Given the description of an element on the screen output the (x, y) to click on. 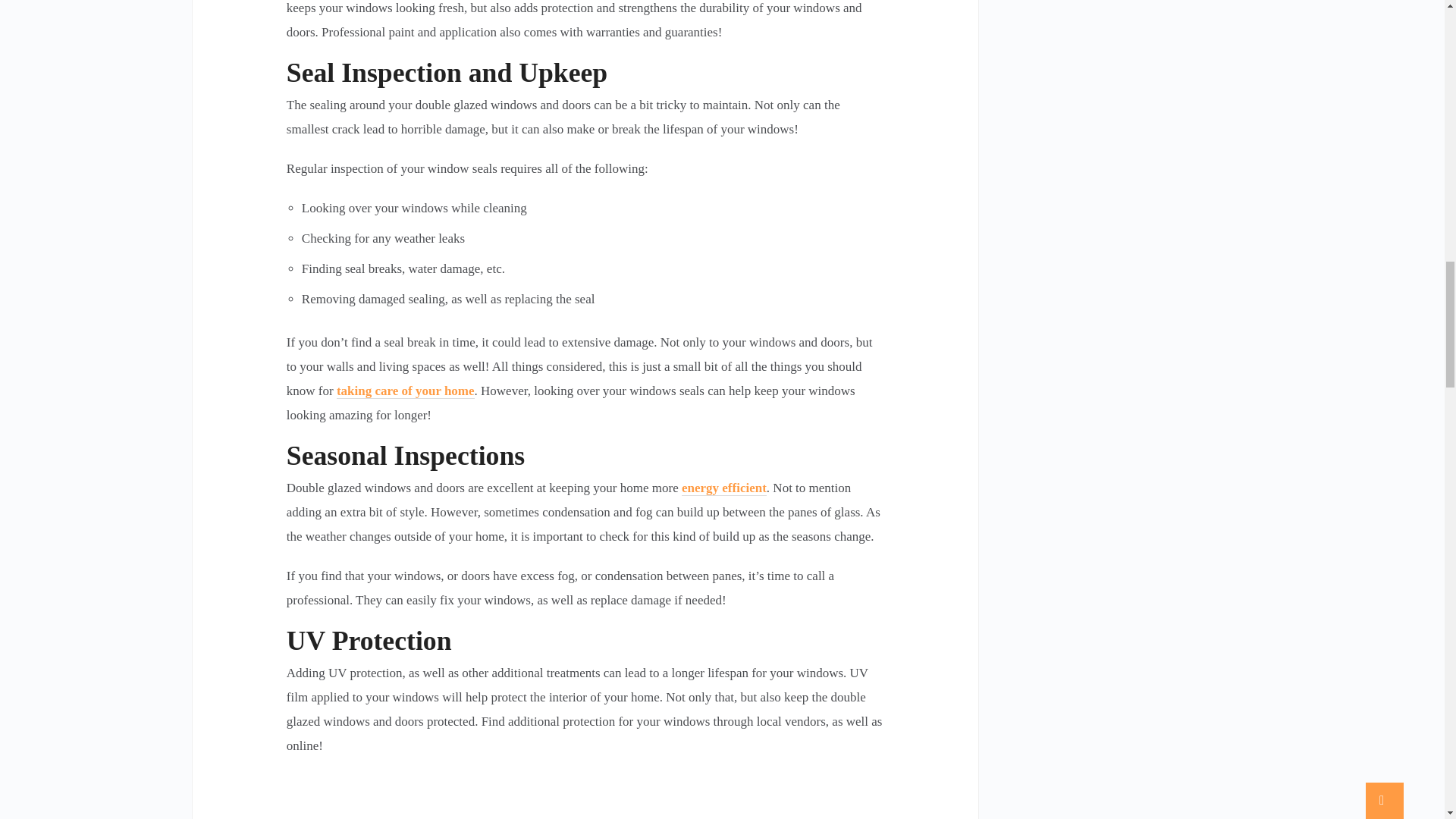
taking care of your home (405, 391)
interior double glazed windows and doors (584, 796)
energy efficient (724, 488)
